Given the description of an element on the screen output the (x, y) to click on. 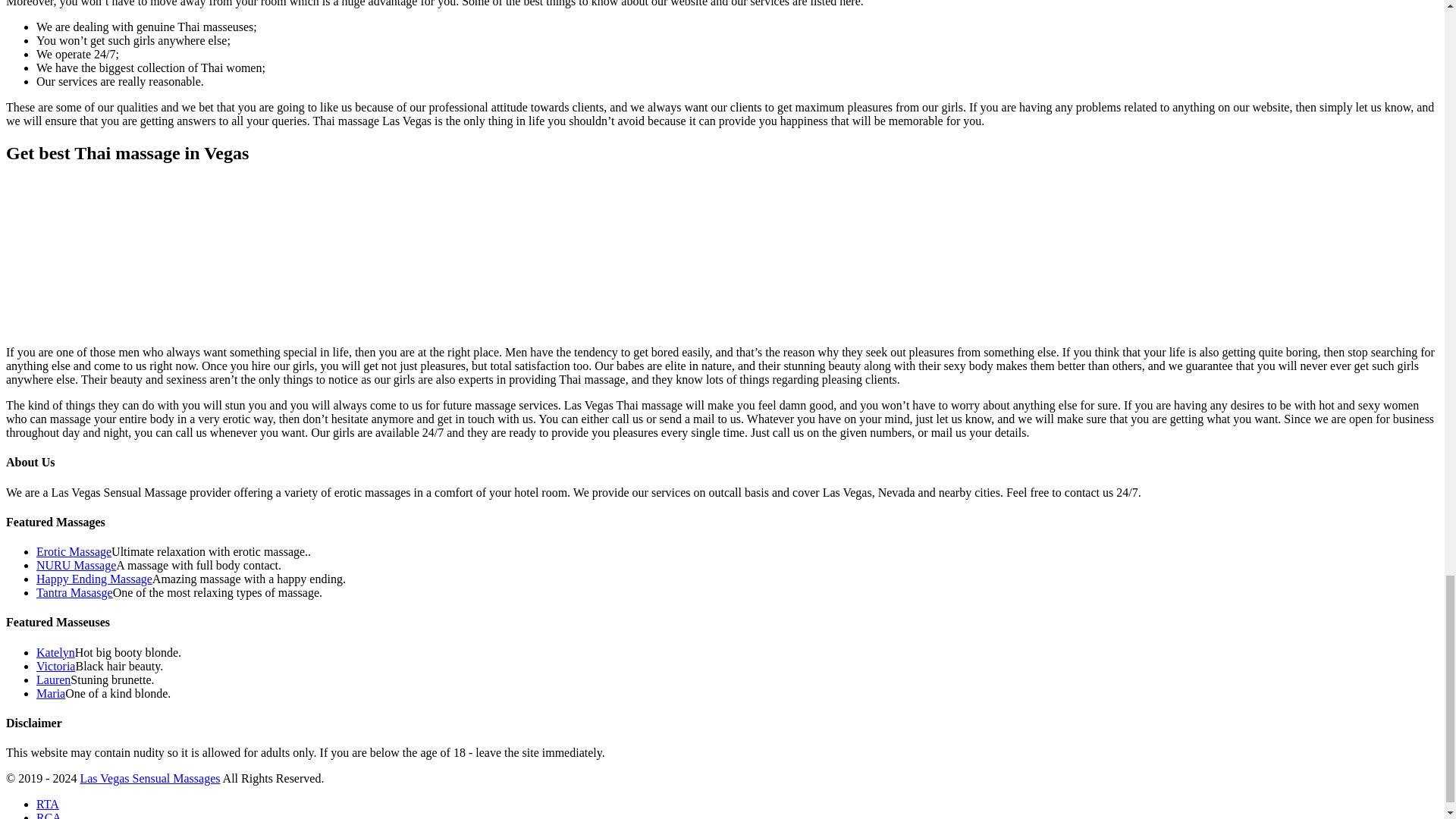
NURU Massage (76, 564)
Tantra Masasge (74, 592)
Erotic Massage (74, 551)
Happy Ending Massage (94, 578)
